Given the description of an element on the screen output the (x, y) to click on. 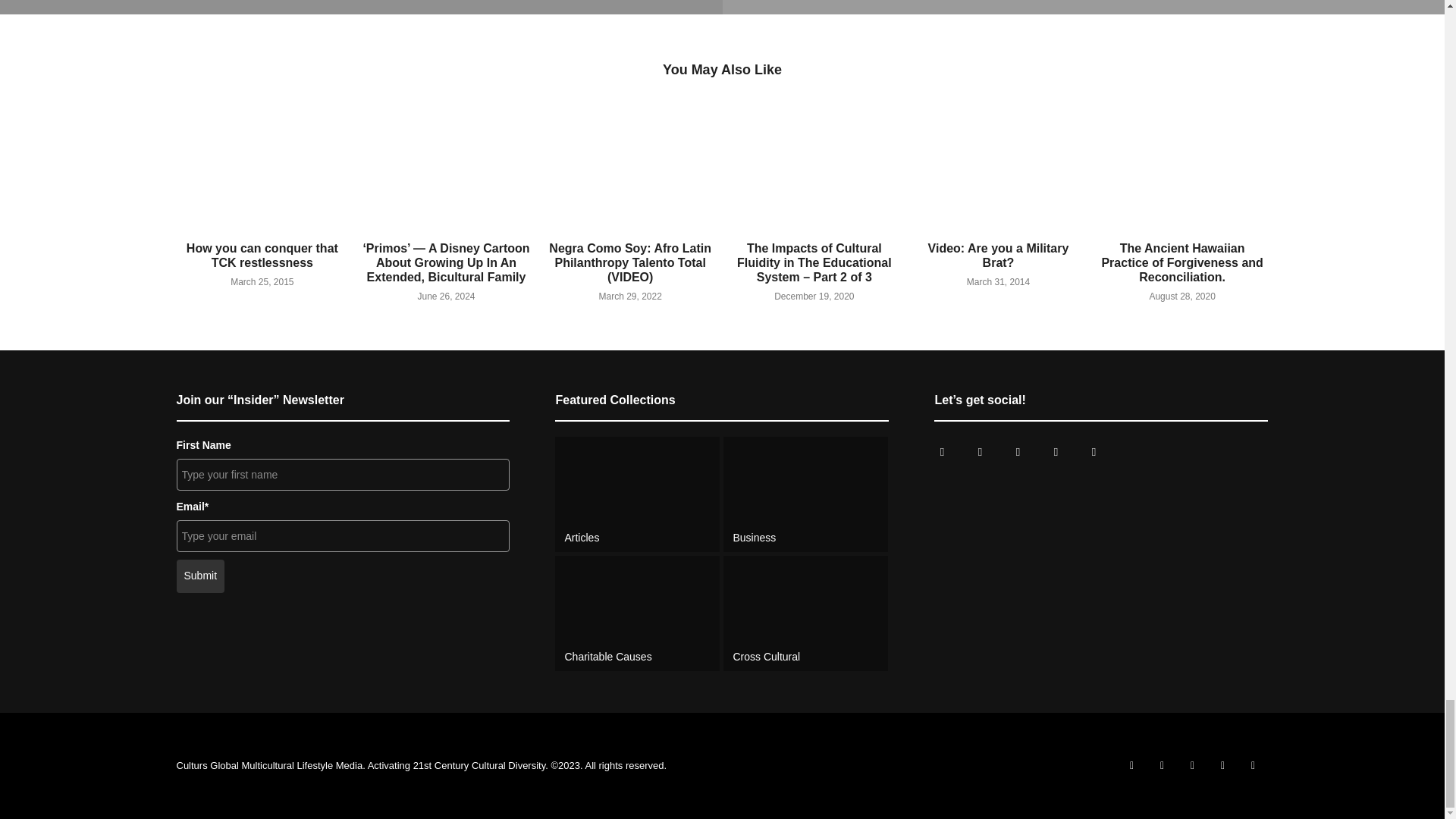
Cultursmag (941, 451)
Culturs (1017, 451)
Cultursmag (978, 451)
